Given the description of an element on the screen output the (x, y) to click on. 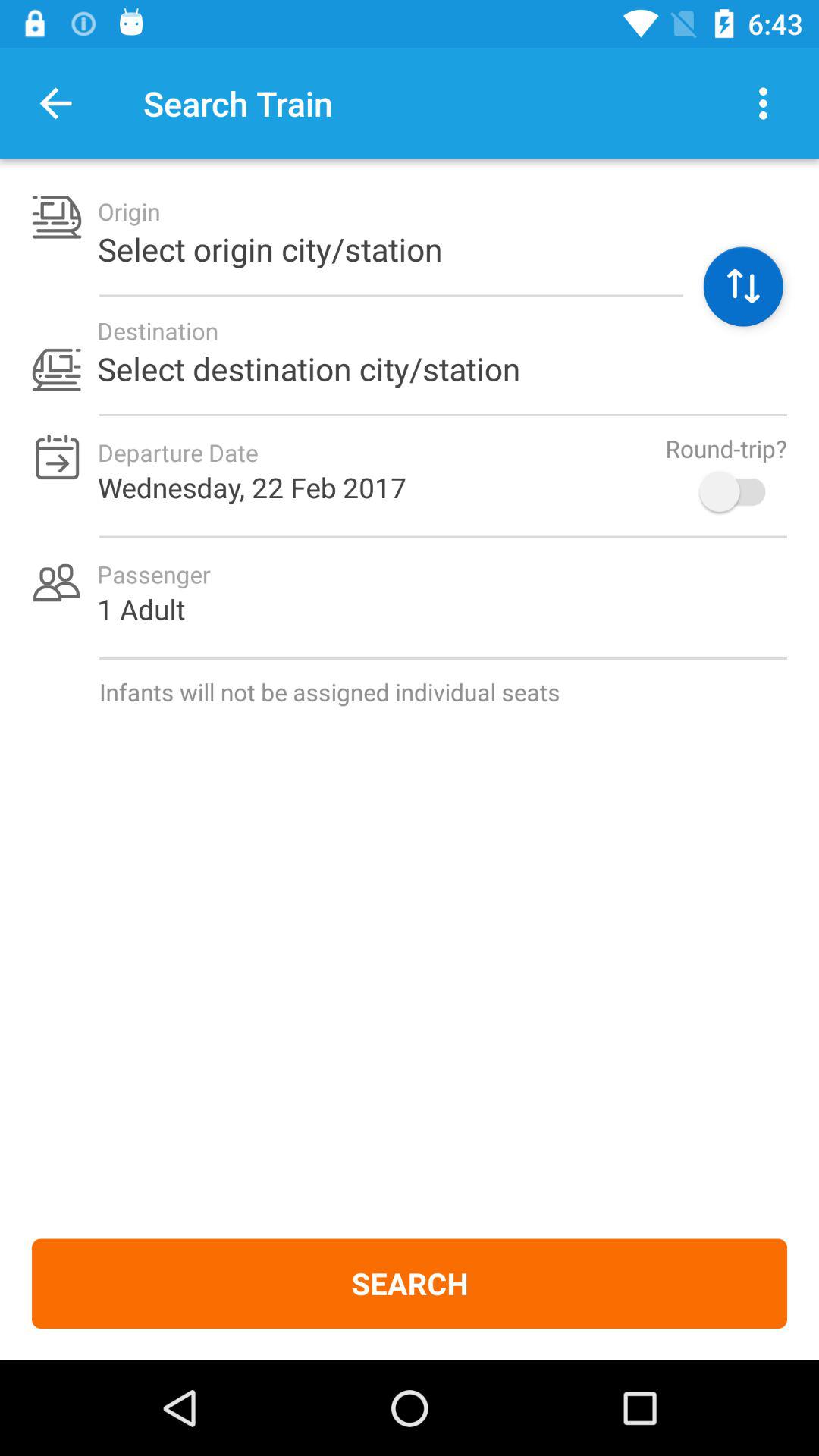
toggle round trip option (739, 491)
